Given the description of an element on the screen output the (x, y) to click on. 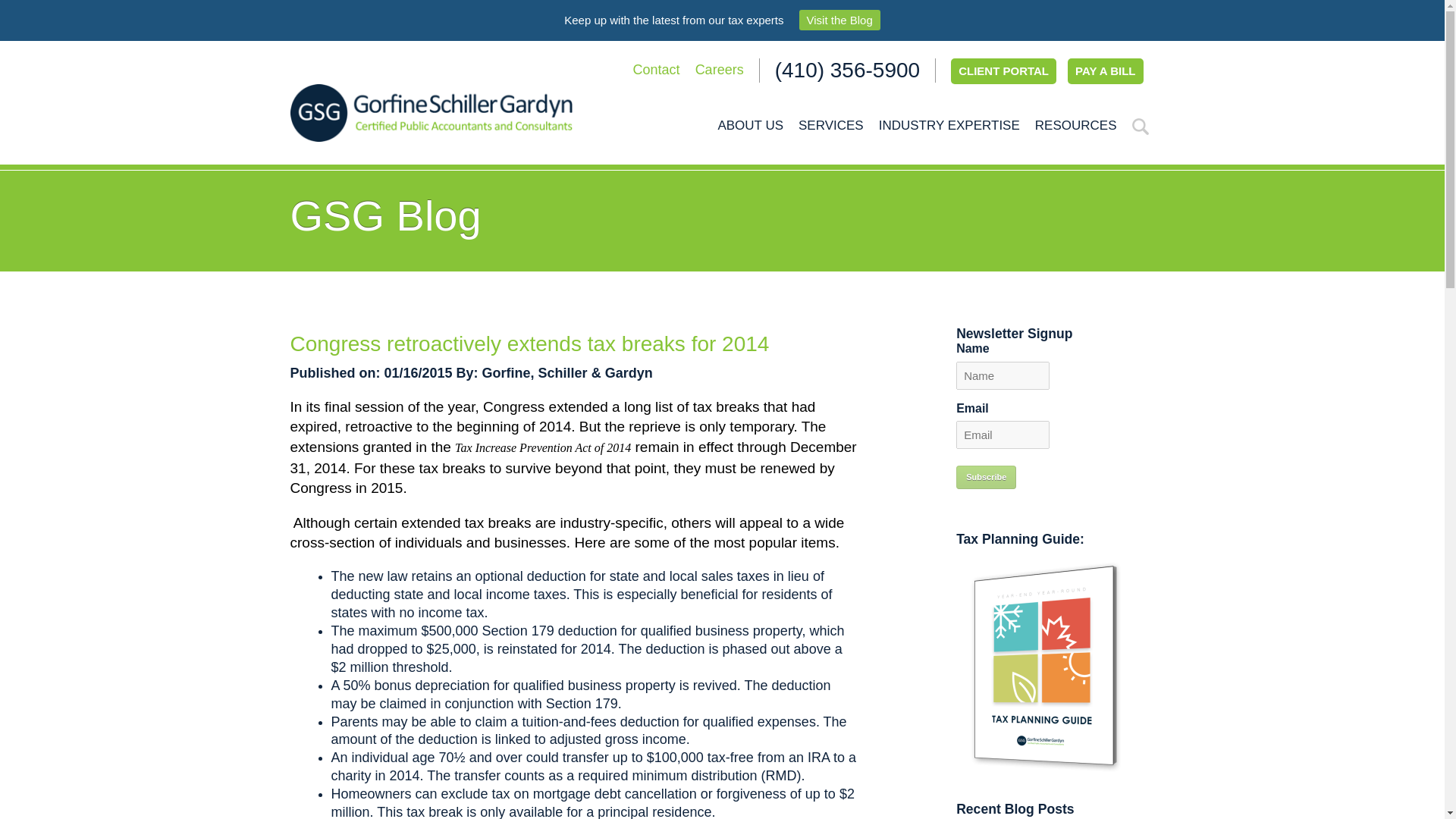
INDUSTRY EXPERTISE (948, 125)
Subscribe (986, 477)
CLIENT PORTAL (1003, 71)
Careers (719, 69)
SERVICES (830, 125)
RESOURCES (1075, 125)
ABOUT US (750, 125)
PAY A BILL (1104, 71)
Contact (656, 69)
